Given the description of an element on the screen output the (x, y) to click on. 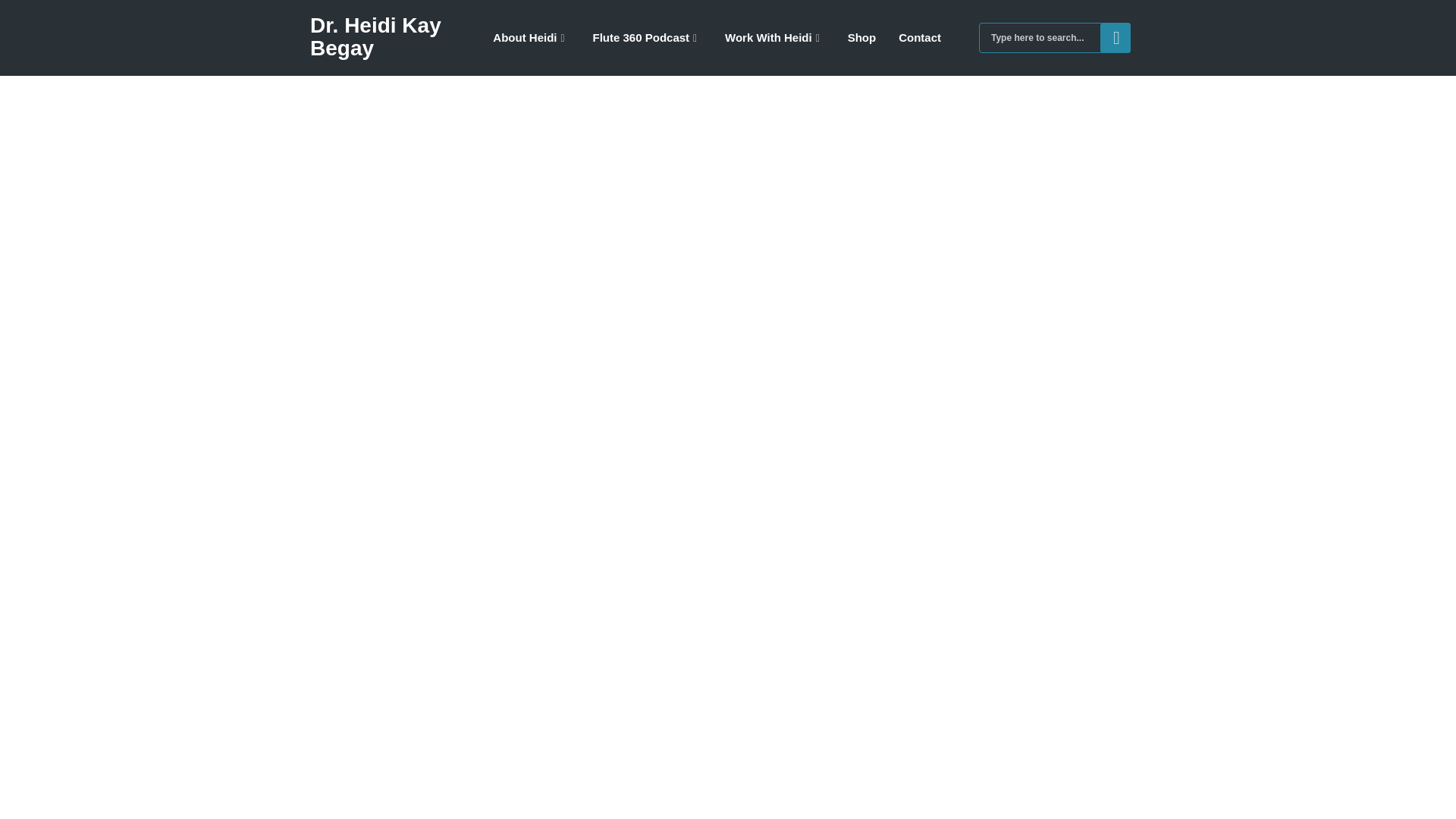
SEARCH (1115, 37)
Shop (861, 37)
About Heidi (531, 37)
Dr. Heidi Kay Begay (375, 36)
Work With Heidi (775, 37)
Contact (919, 37)
Flute 360 Podcast (647, 37)
